Given the description of an element on the screen output the (x, y) to click on. 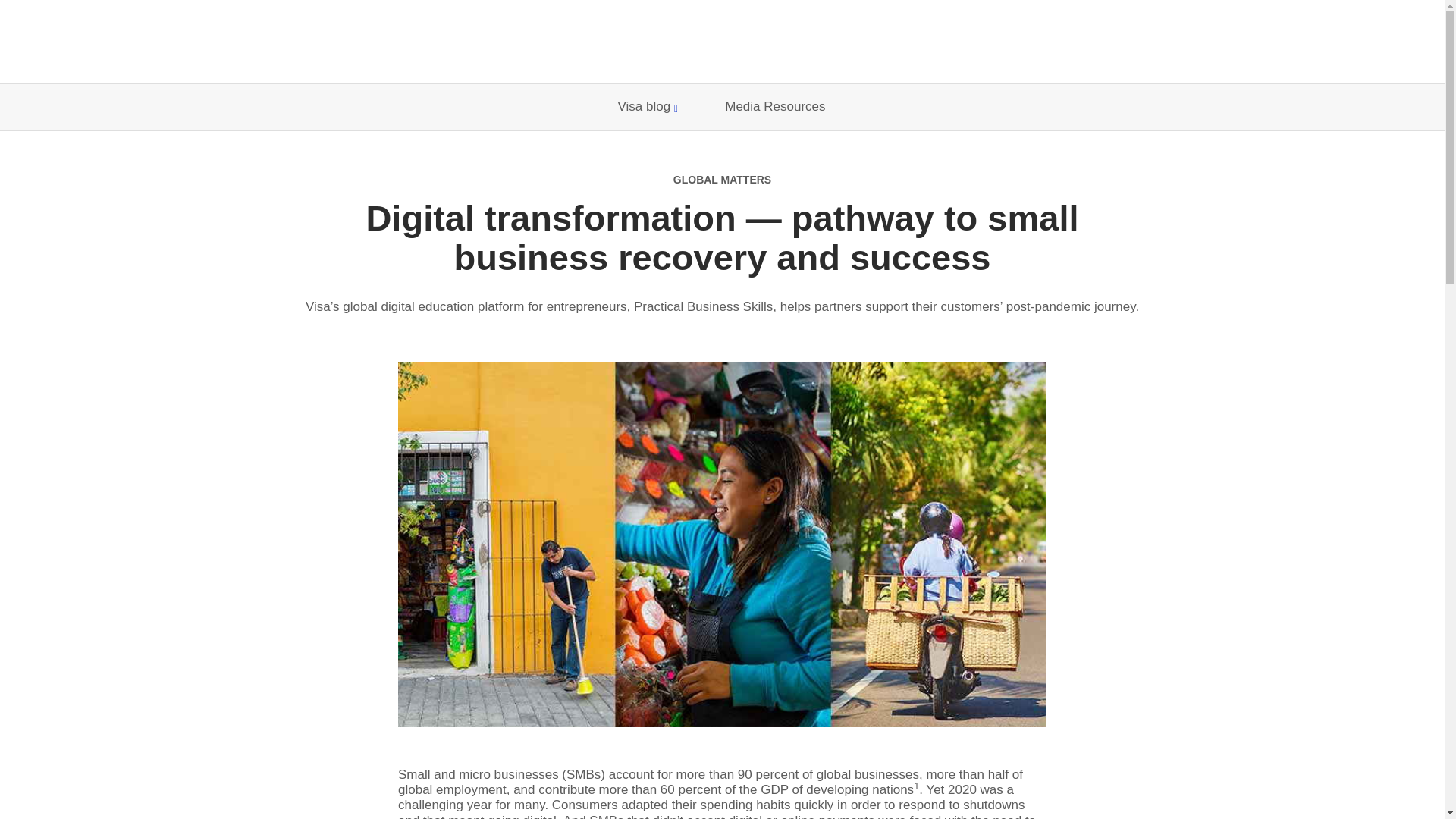
Media Resources (774, 107)
Visa blog (647, 107)
